Given the description of an element on the screen output the (x, y) to click on. 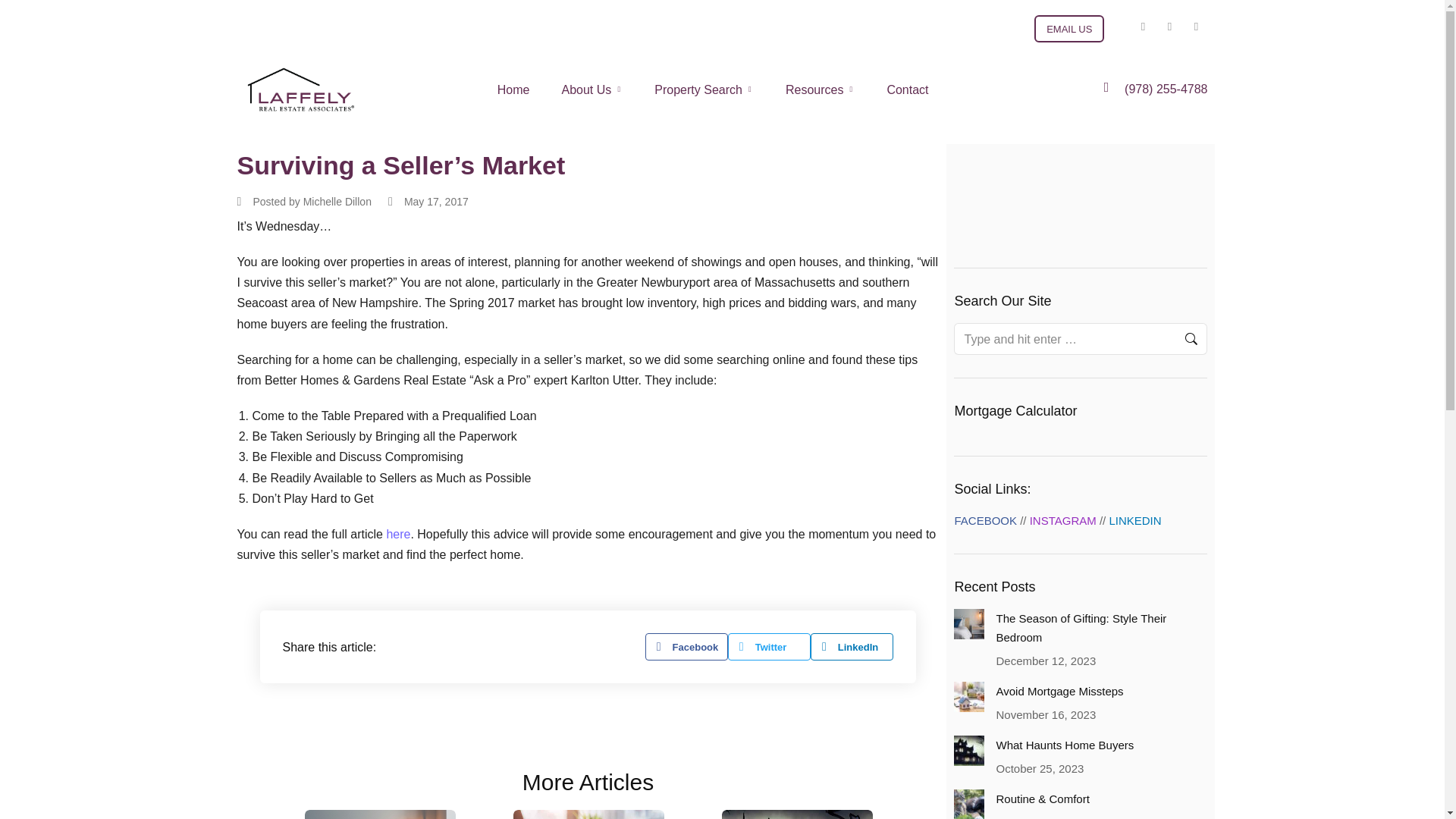
Contact (907, 89)
About Us (591, 89)
EMAIL US (1068, 28)
Homepage link (299, 89)
May 17, 2017 (428, 201)
Go! (1179, 338)
here (397, 533)
Go! (1179, 338)
Resources (819, 89)
Property Search (703, 89)
Posted by Michelle Dillon (303, 201)
Home (513, 89)
